Given the description of an element on the screen output the (x, y) to click on. 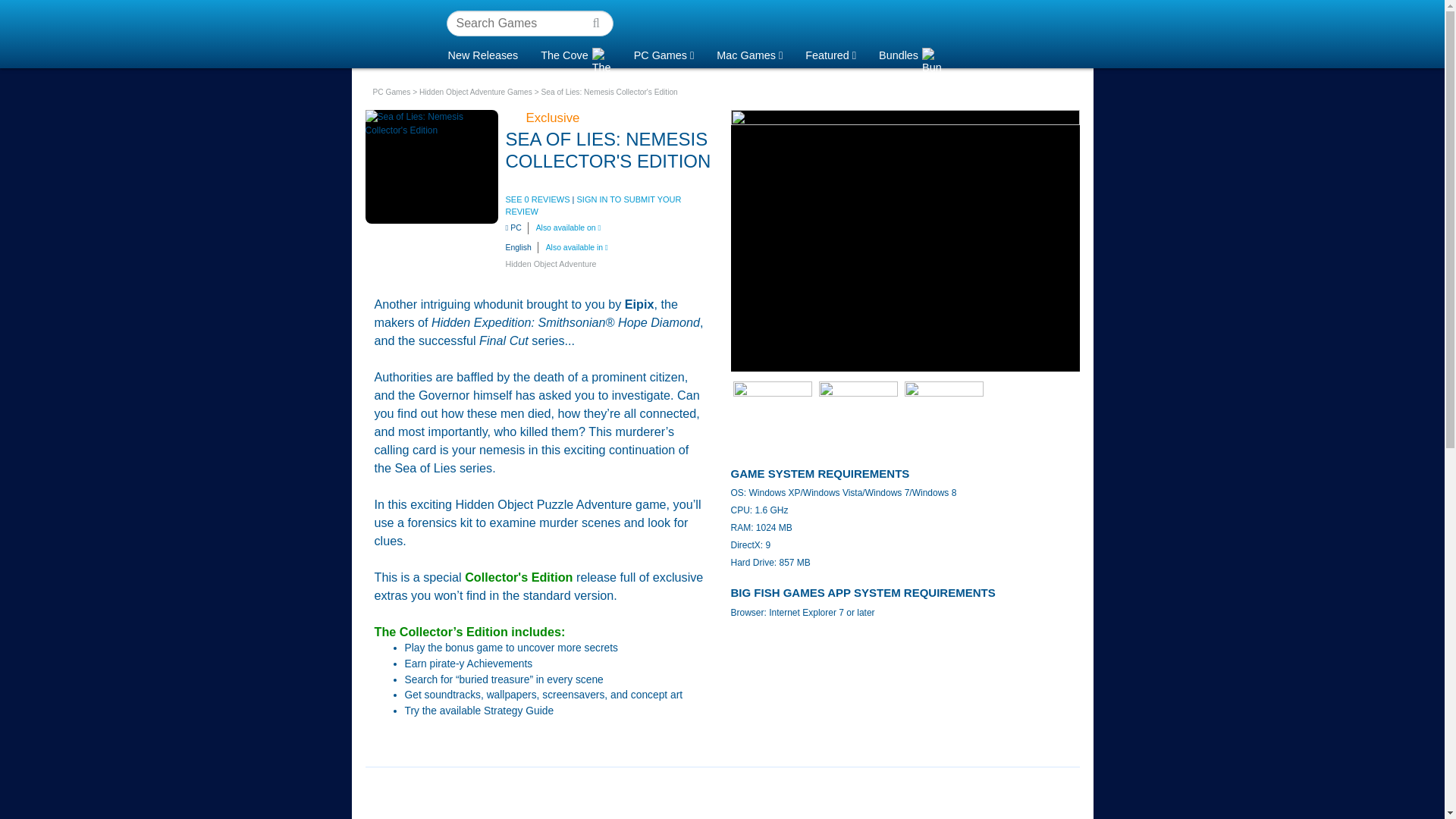
The Cove (575, 53)
New Releases (482, 53)
Mac Games (748, 53)
Big Fish Games (389, 33)
PC Games (664, 53)
